Given the description of an element on the screen output the (x, y) to click on. 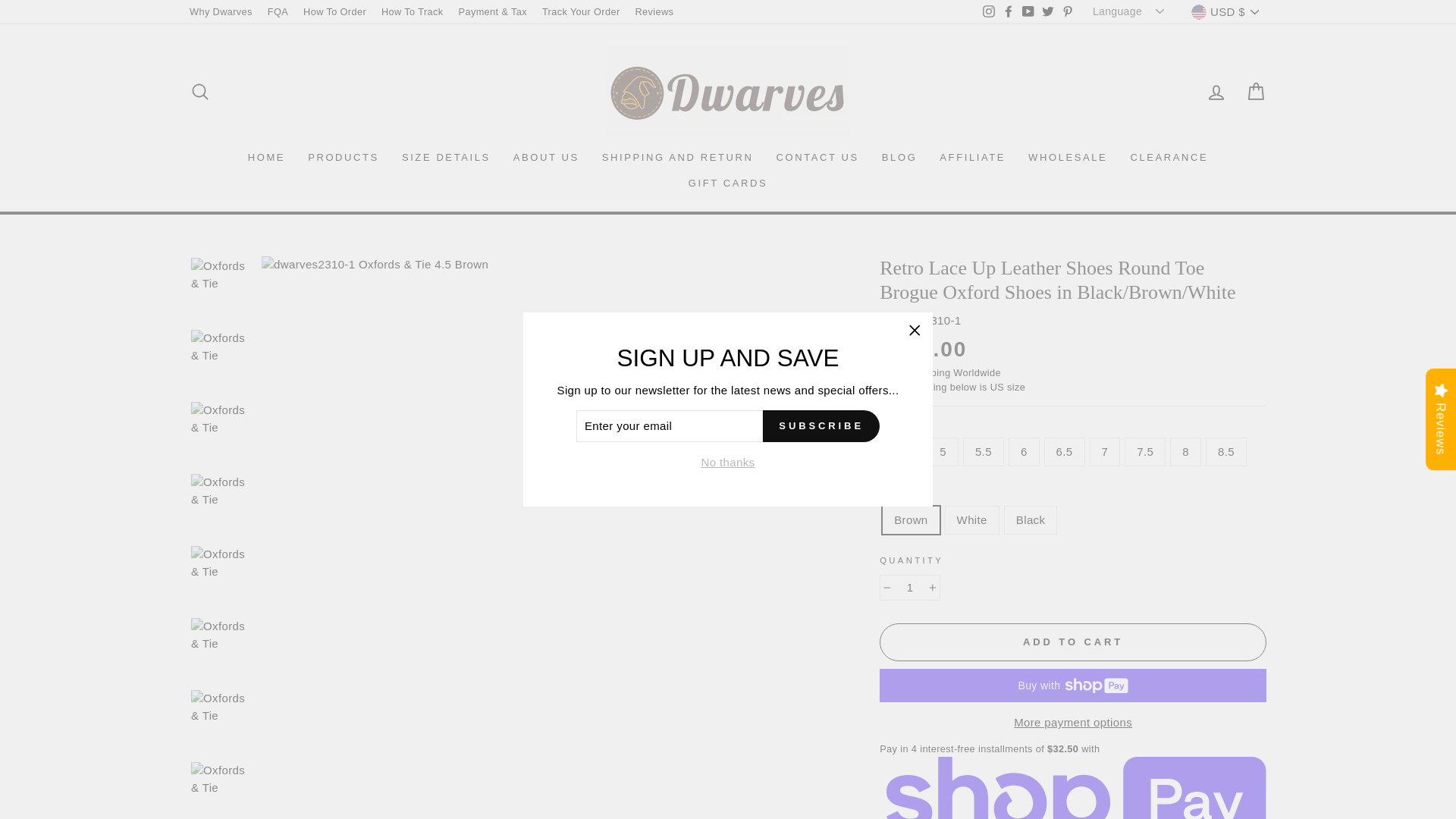
1 (909, 587)
Dwarves Shoes on Instagram (988, 11)
Dwarves Shoes on Pinterest (1067, 11)
Dwarves Shoes on Facebook (1007, 11)
Dwarves Shoes on YouTube (1027, 11)
Dwarves Shoes on Twitter (1048, 11)
